Given the description of an element on the screen output the (x, y) to click on. 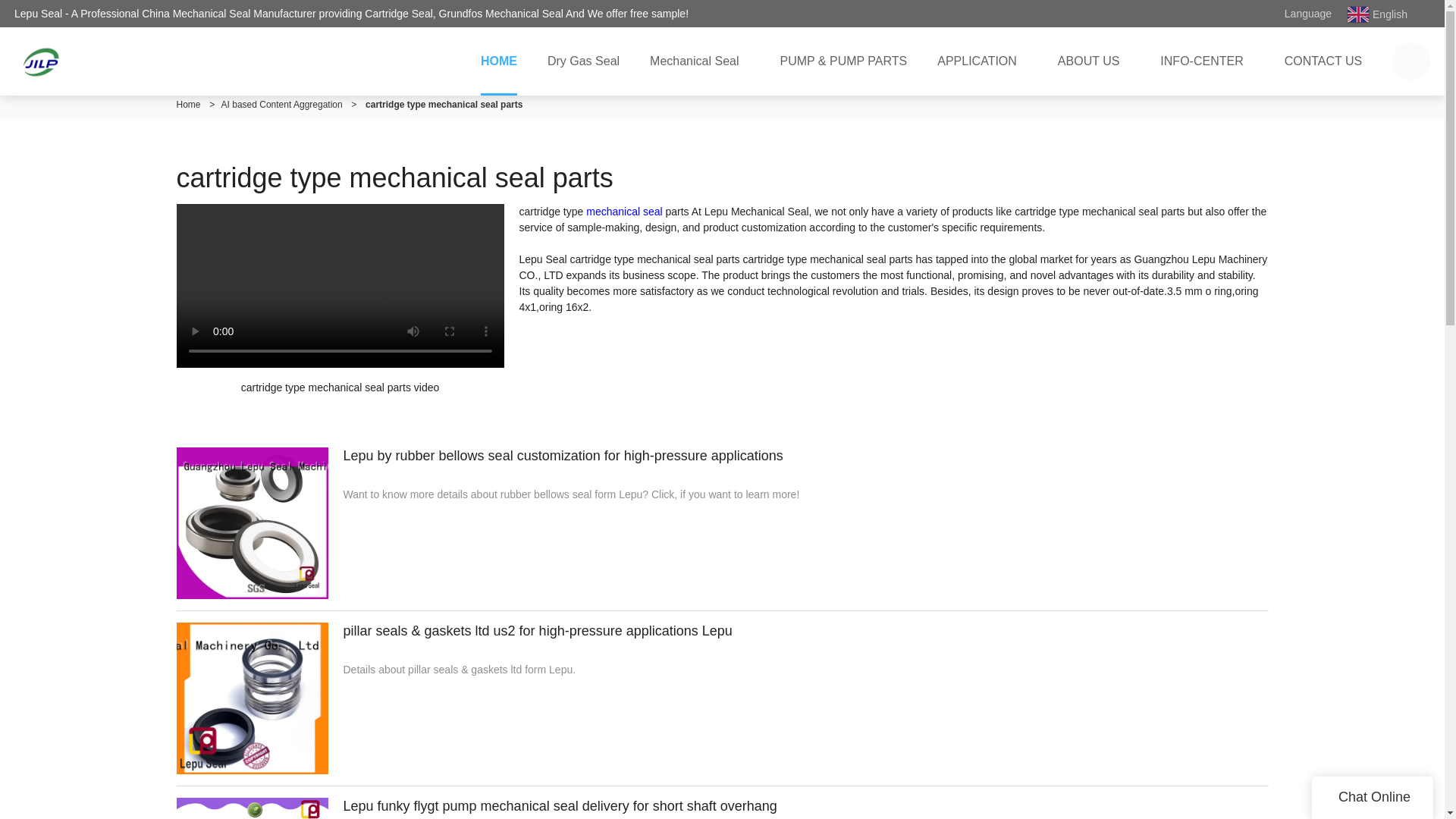
Mechanical Seal (699, 61)
Dry Gas Seal (583, 61)
HOME (498, 61)
APPLICATION (981, 61)
